Given the description of an element on the screen output the (x, y) to click on. 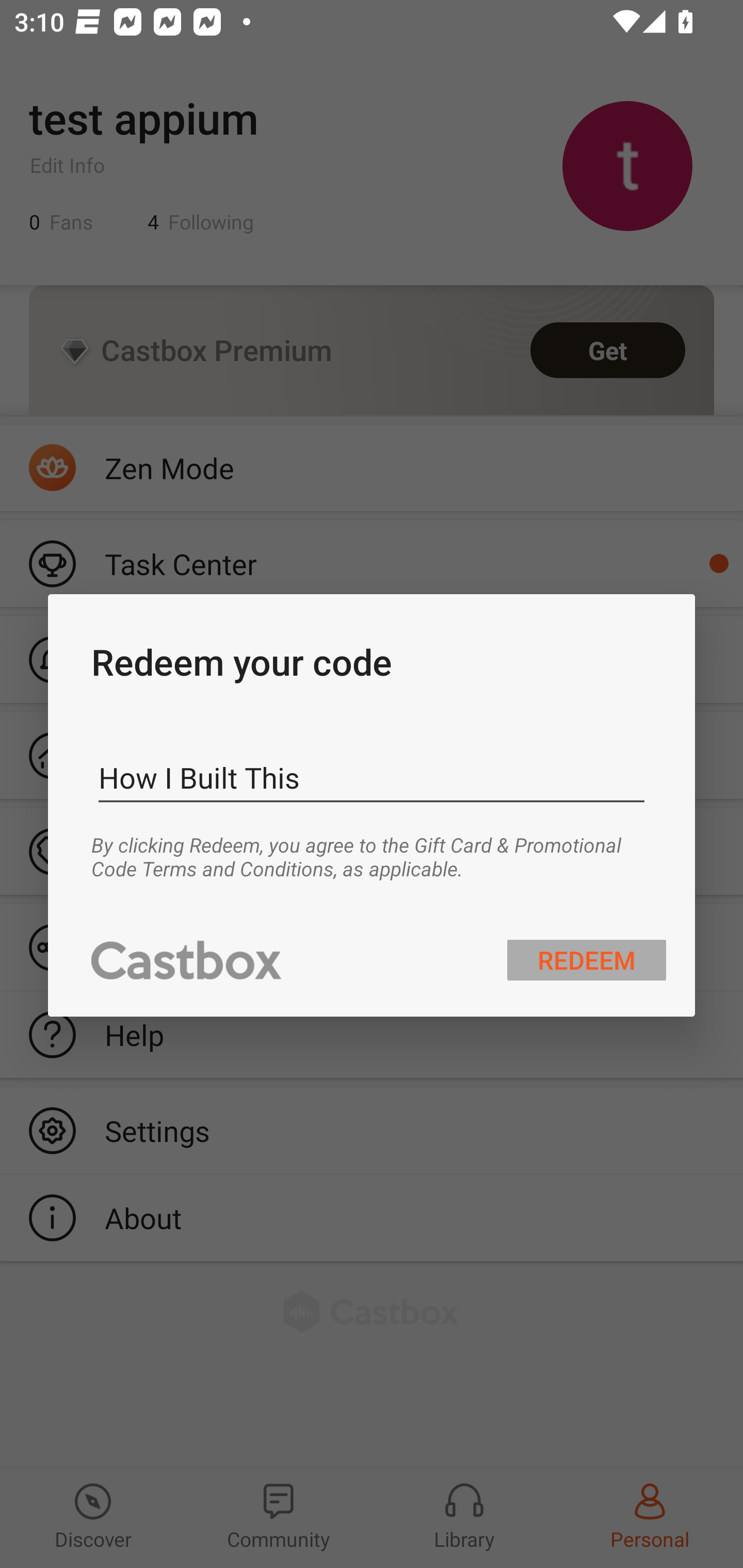
How I Built This (371, 778)
REDEEM (586, 959)
